Given the description of an element on the screen output the (x, y) to click on. 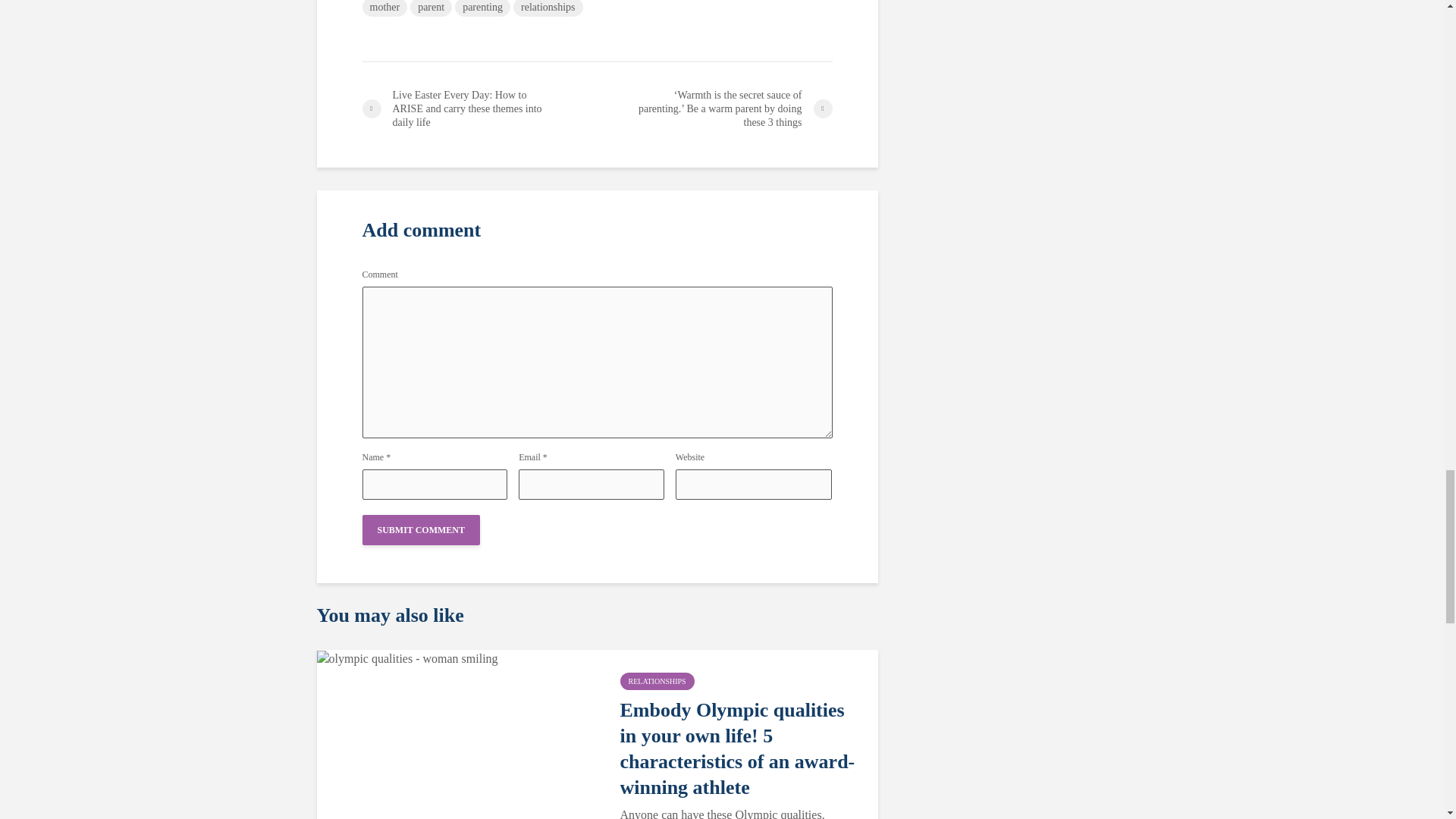
RELATIONSHIPS (657, 681)
Submit Comment (421, 530)
parenting (482, 8)
parent (430, 8)
relationships (548, 8)
Submit Comment (421, 530)
mother (384, 8)
